Given the description of an element on the screen output the (x, y) to click on. 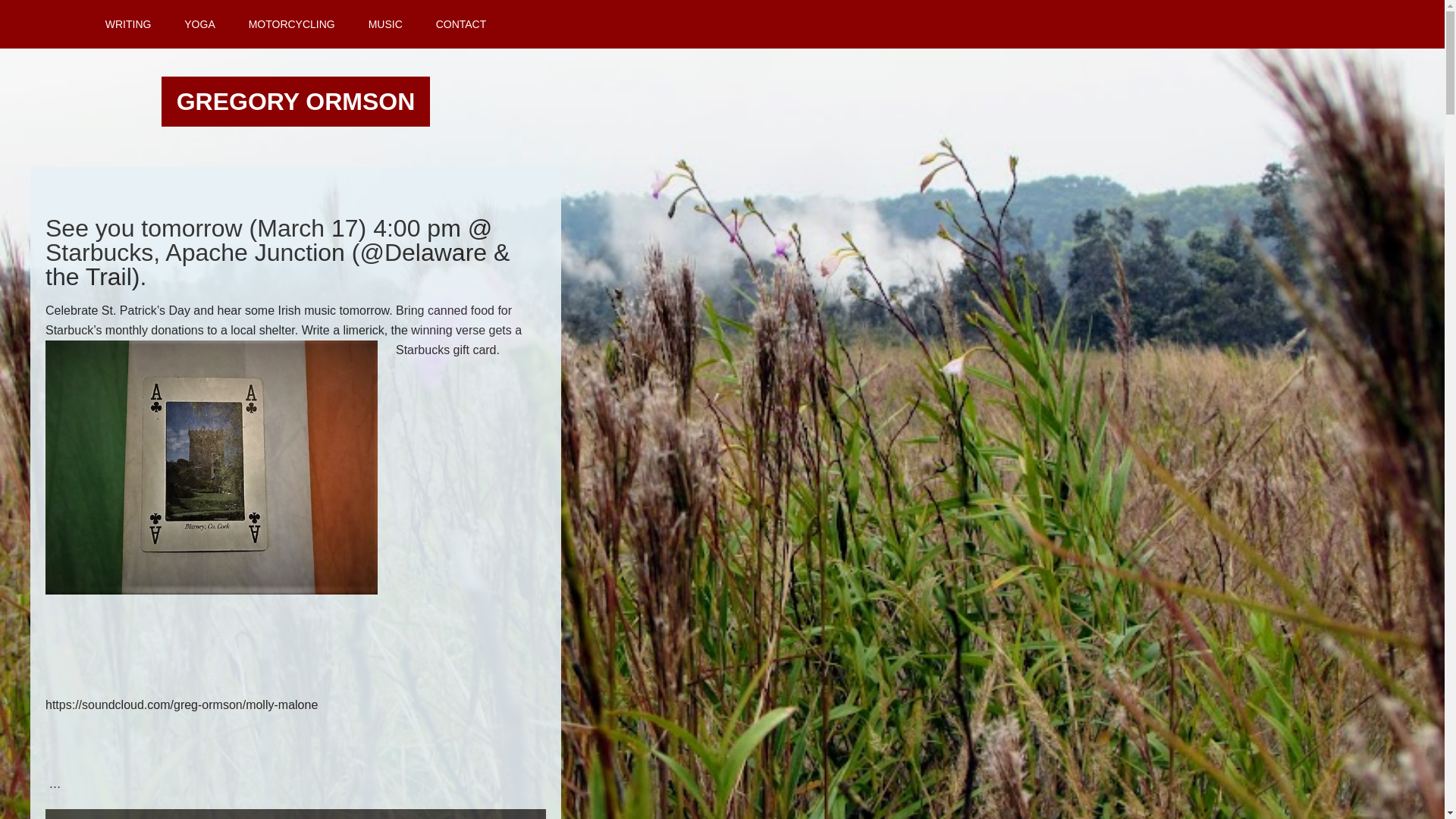
MUSIC (385, 24)
WRITING (128, 24)
GREGORY ORMSON (295, 101)
CONTACT (461, 24)
YOGA (199, 24)
MOTORCYCLING (291, 24)
READ MORE... (295, 814)
